Given the description of an element on the screen output the (x, y) to click on. 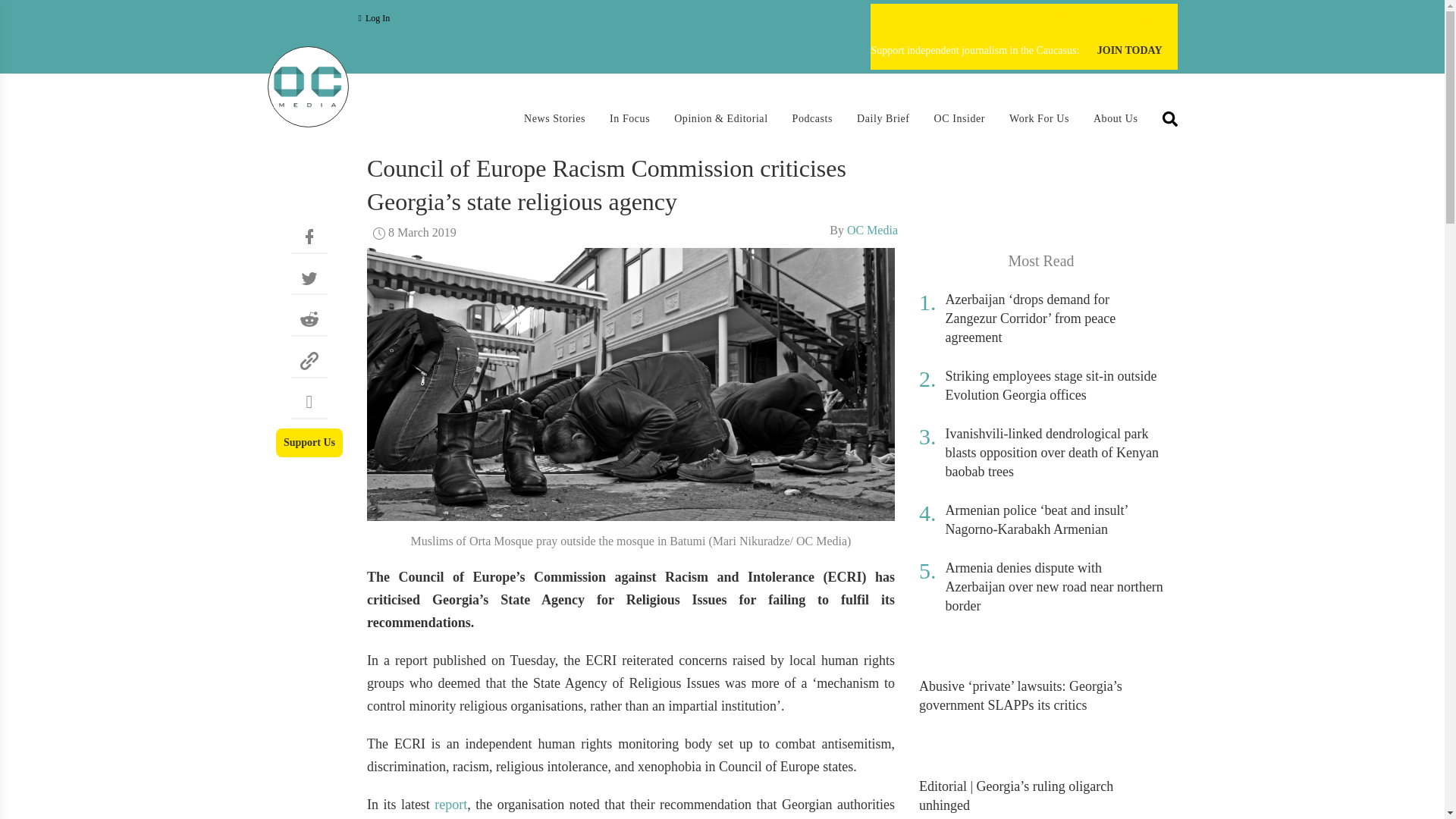
Daily Brief (883, 118)
News Stories (554, 118)
OC Insider (959, 118)
About Us (1115, 118)
Podcasts (812, 118)
In Focus (629, 118)
Work For Us (1038, 118)
JOIN TODAY (1129, 51)
